Given the description of an element on the screen output the (x, y) to click on. 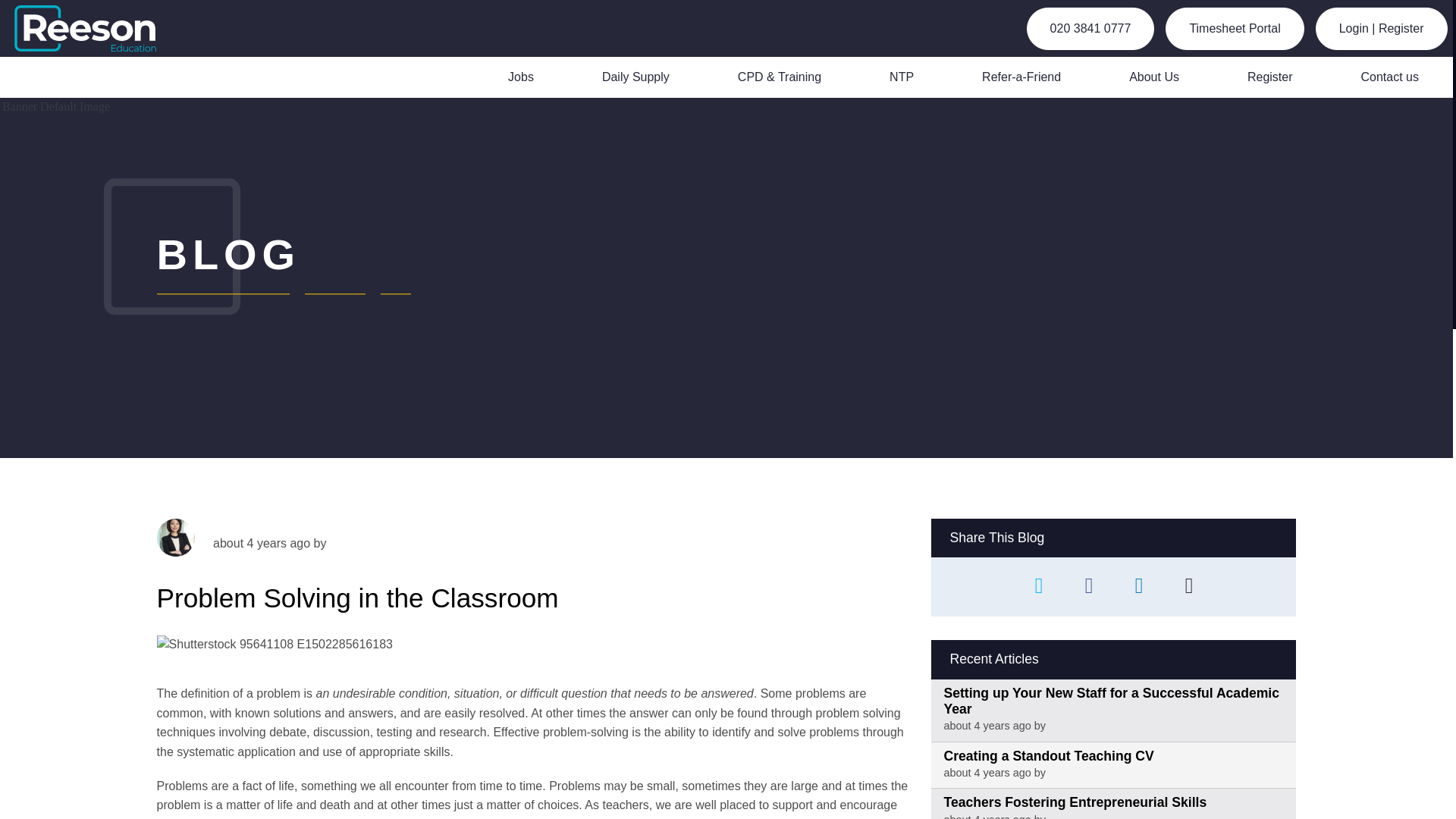
Timesheet Portal (1234, 28)
About Us (1154, 76)
LinkedIn (1138, 586)
Twitter (1039, 586)
Email (1189, 586)
Refer-a-Friend (1021, 76)
Daily Supply (636, 76)
Go to the Homepage (94, 28)
NTP (901, 76)
Contact us (1389, 76)
